Given the description of an element on the screen output the (x, y) to click on. 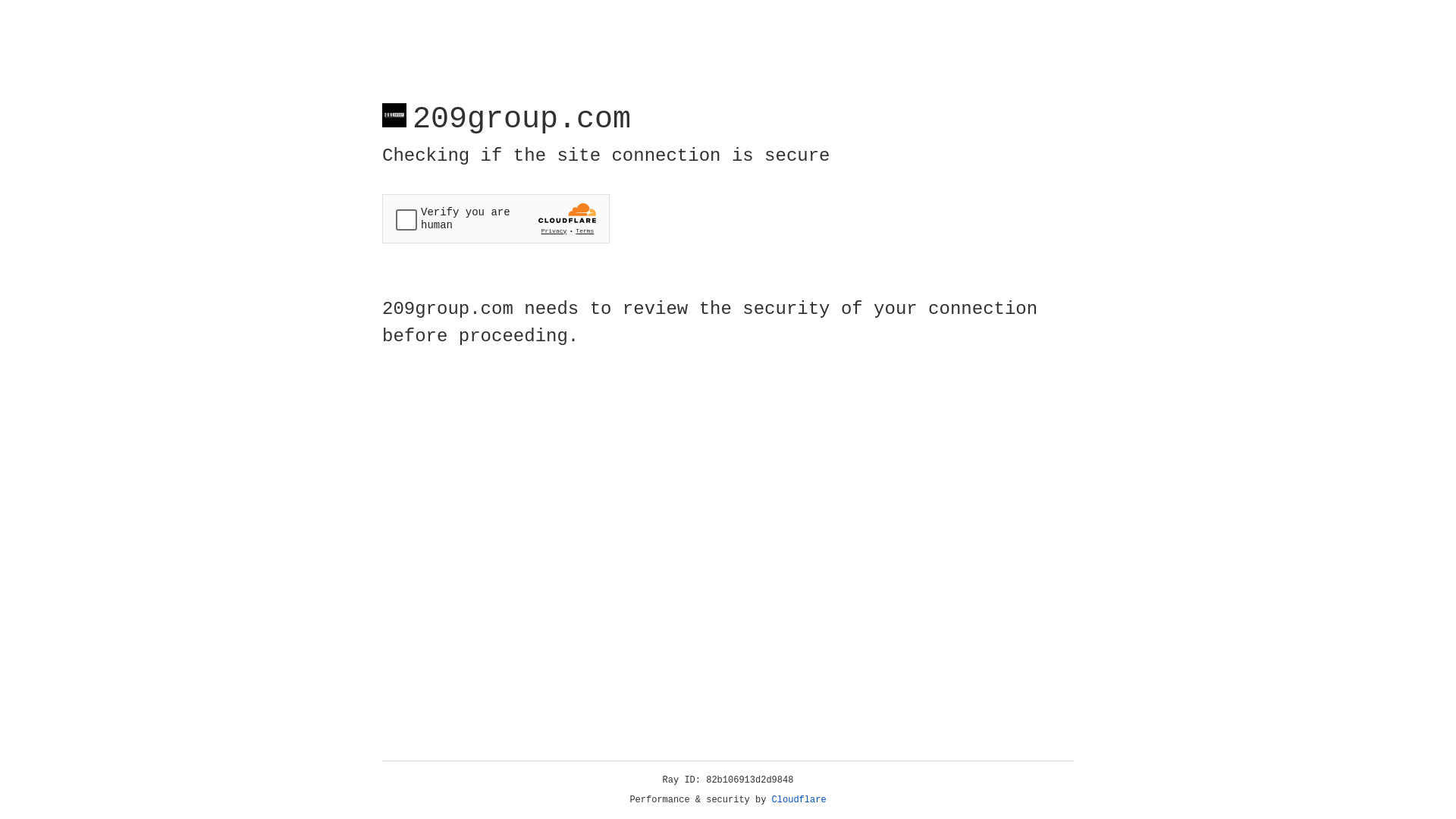
Cloudflare Element type: text (798, 799)
Widget containing a Cloudflare security challenge Element type: hover (495, 218)
